Given the description of an element on the screen output the (x, y) to click on. 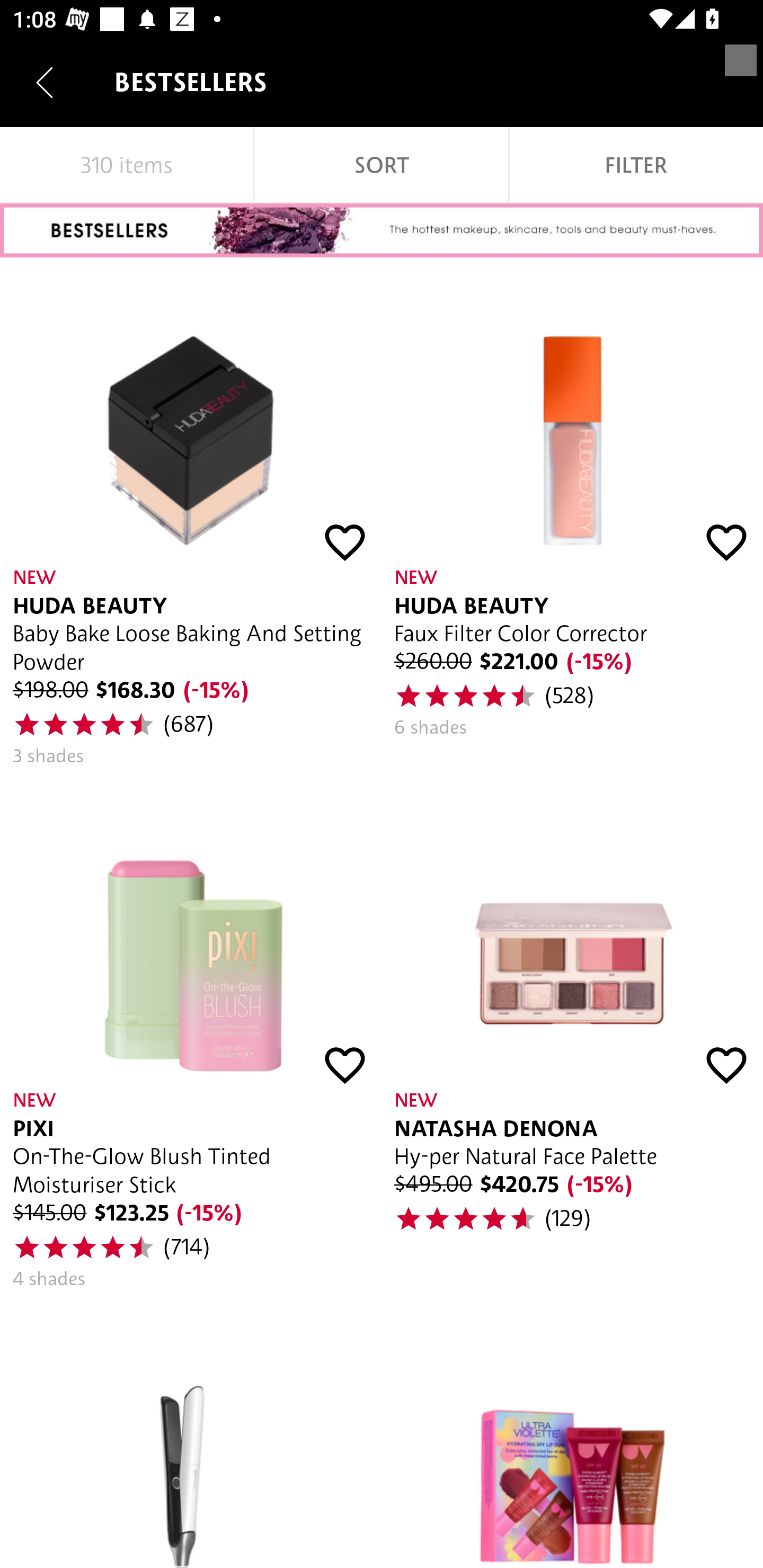
Navigate up (44, 82)
SORT (381, 165)
FILTER (636, 165)
